Given the description of an element on the screen output the (x, y) to click on. 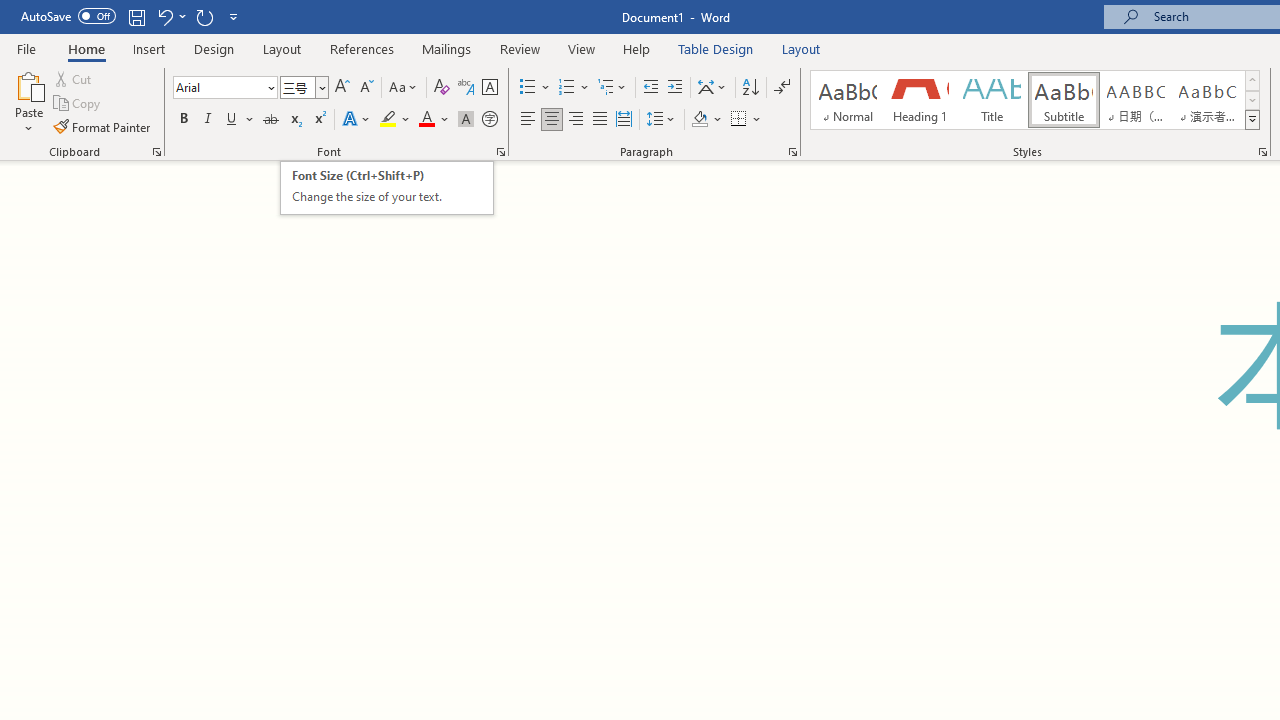
Undo Paste (164, 15)
AutomationID: QuickStylesGallery (1035, 99)
